Given the description of an element on the screen output the (x, y) to click on. 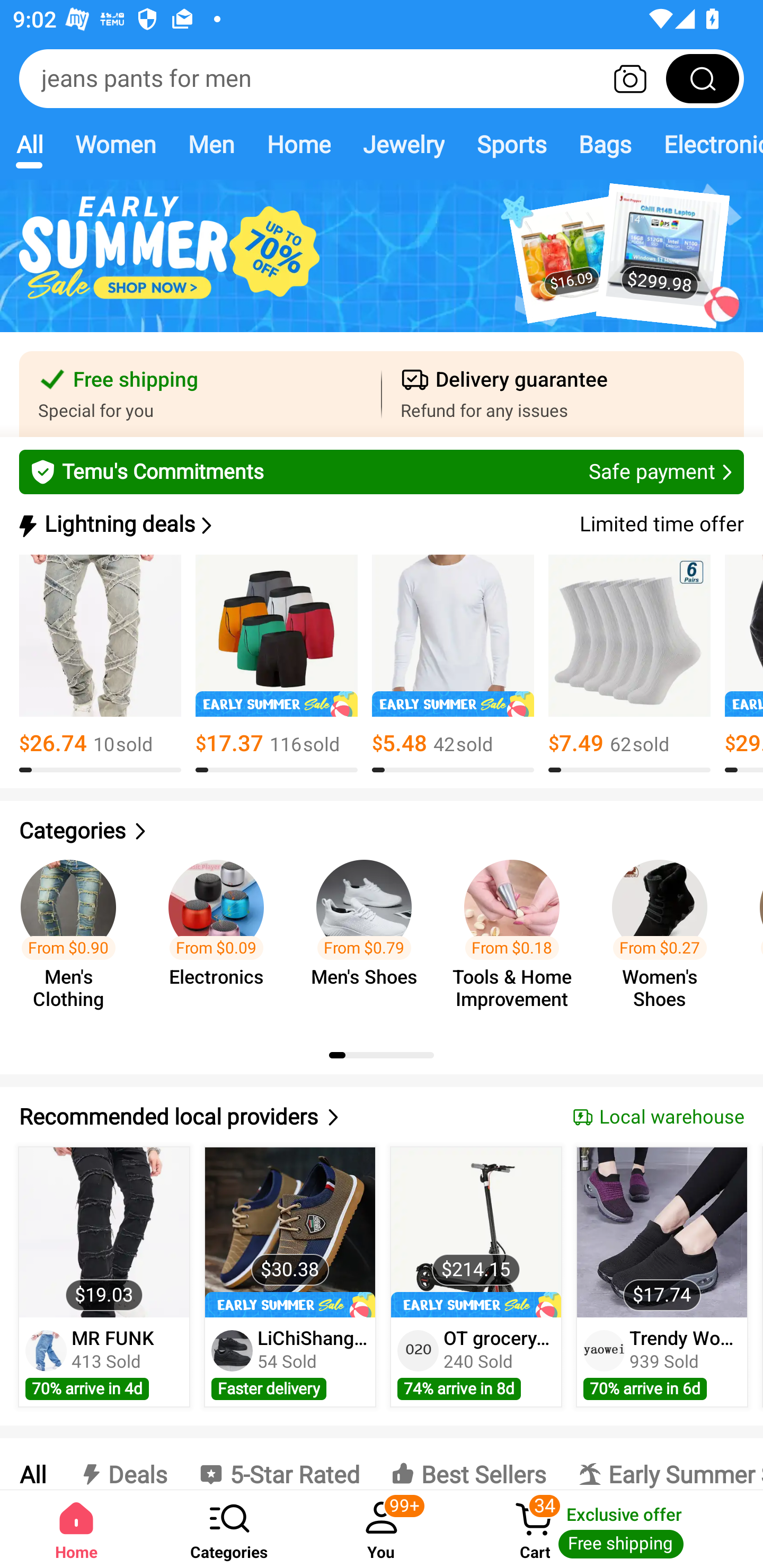
jeans pants for men (381, 78)
All (29, 144)
Women (115, 144)
Men (211, 144)
Home (298, 144)
Jewelry (403, 144)
Sports (511, 144)
Bags (605, 144)
Electronics (705, 144)
$16.09 $299.98 (381, 265)
Free shipping Special for you (200, 394)
Delivery guarantee Refund for any issues (562, 394)
Temu's Commitments (381, 471)
Lightning deals Lightning deals Limited time offer (379, 524)
$26.74 10￼sold 8.0 (100, 664)
$17.37 116￼sold 8.0 (276, 664)
$5.48 42￼sold 8.0 (453, 664)
$7.49 62￼sold 8.0 (629, 664)
Categories (381, 830)
From $0.90 Men's Clothing (74, 936)
From $0.09 Electronics (222, 936)
From $0.79 Men's Shoes (369, 936)
From $0.18 Tools & Home Improvement (517, 936)
From $0.27 Women's Shoes (665, 936)
$19.03 MR FUNK 413 Sold 70% arrive in 4d (103, 1276)
$30.38 LiChiShangMao 54 Sold Faster delivery (289, 1276)
$214.15 OT grocery shop 240 Sold 74% arrive in 8d (475, 1276)
$19.03 (104, 1232)
$30.38 (290, 1232)
$214.15 (475, 1232)
$17.74 (661, 1232)
All (32, 1463)
Deals Deals Deals (122, 1463)
5-Star Rated 5-Star Rated 5-Star Rated (279, 1463)
Best Sellers Best Sellers Best Sellers (468, 1463)
Home (76, 1528)
Categories (228, 1528)
You ‎99+‎ You (381, 1528)
Cart 34 Cart Exclusive offer (610, 1528)
